Given the description of an element on the screen output the (x, y) to click on. 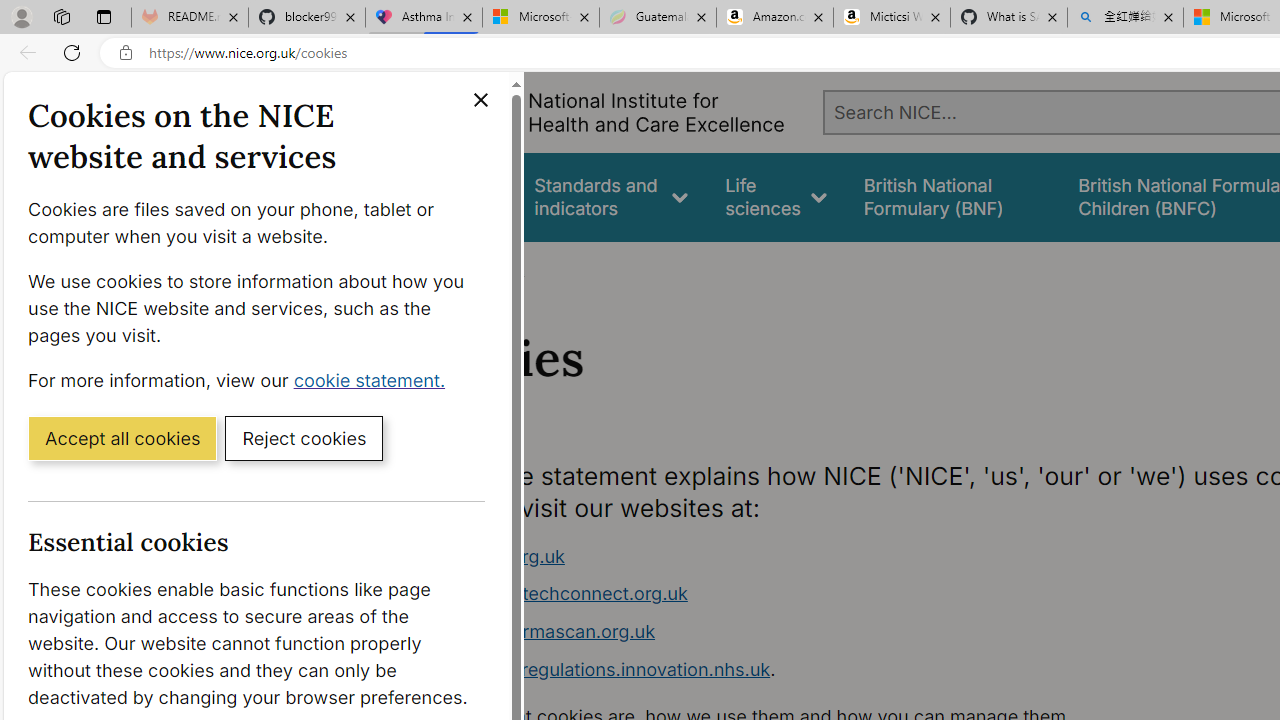
Life sciences (776, 196)
www.digitalregulations.innovation.nhs.uk. (796, 669)
www.digitalregulations.innovation.nhs.uk (595, 668)
Asthma Inhalers: Names and Types (424, 17)
www.healthtechconnect.org.uk (554, 593)
